Given the description of an element on the screen output the (x, y) to click on. 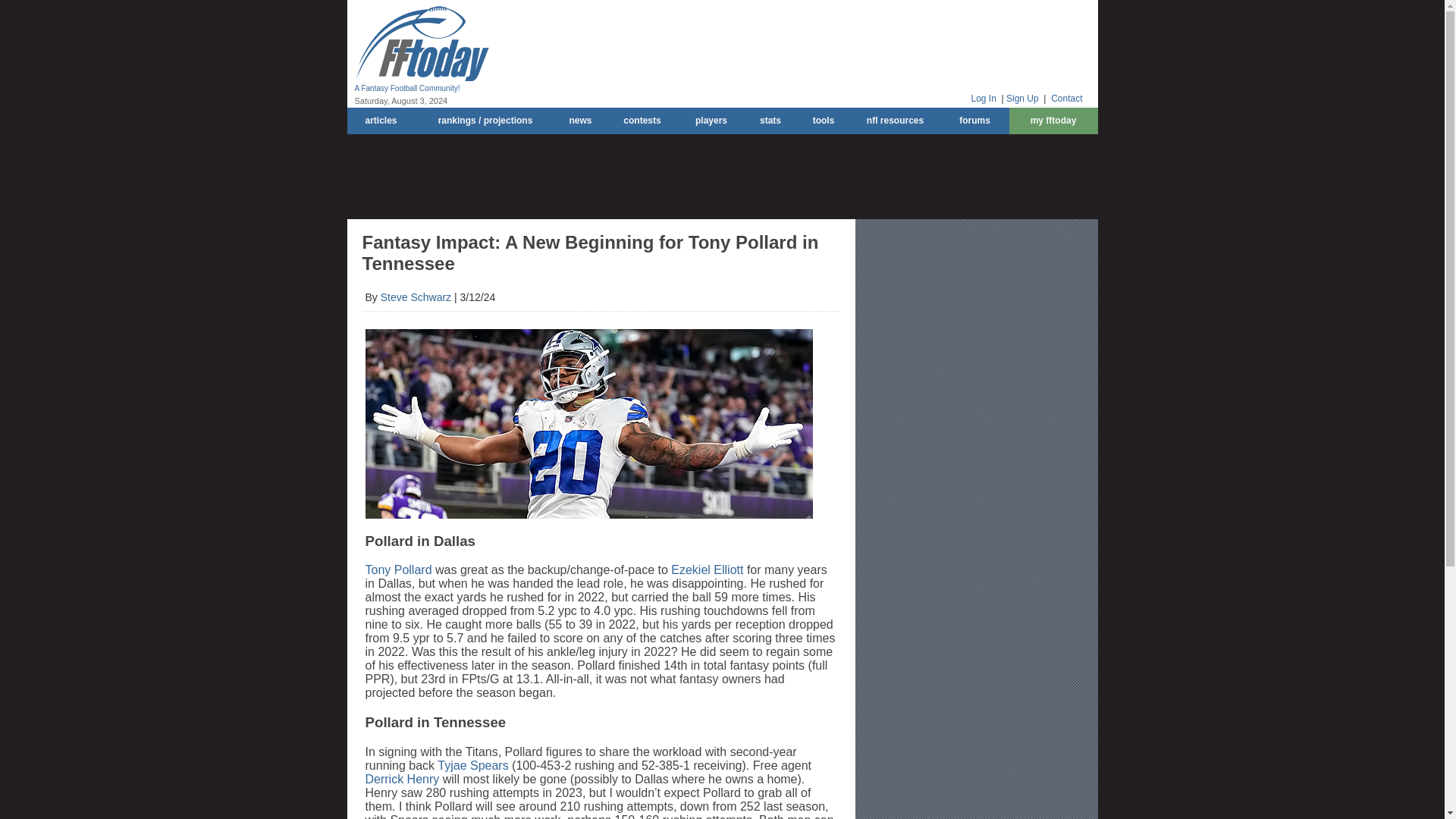
contests (641, 120)
my fftoday (1053, 120)
Contact (1066, 98)
stats (769, 120)
Steve Schwarz (415, 297)
Ezekiel Elliott (706, 569)
forums (974, 120)
news (579, 120)
Derrick Henry (402, 779)
players (711, 120)
articles (380, 120)
nfl resources (894, 120)
Log In (983, 98)
Tony Pollard (398, 569)
Tyjae Spears (473, 765)
